Given the description of an element on the screen output the (x, y) to click on. 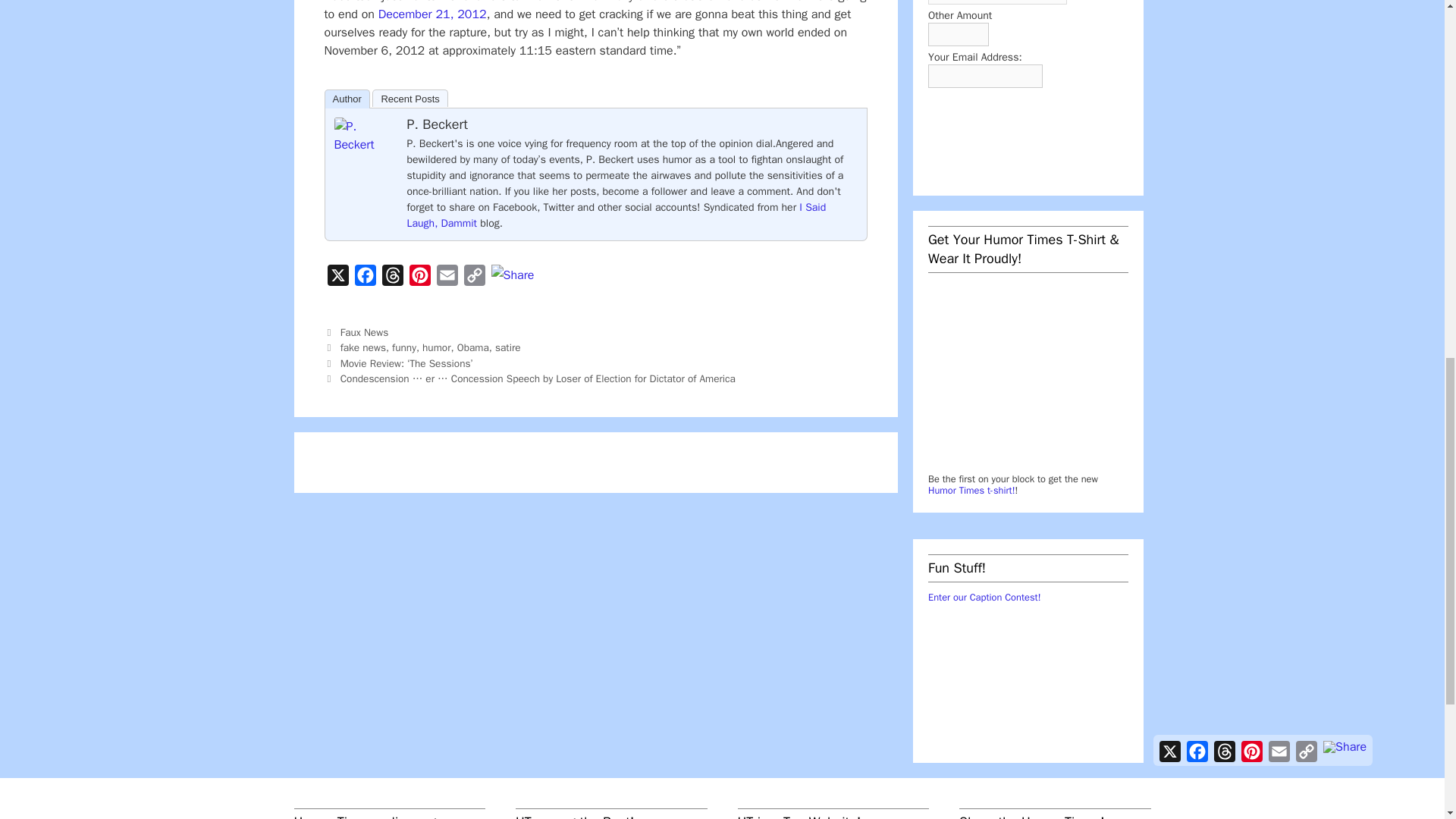
Threads (392, 278)
Pinterest (419, 278)
X (338, 278)
Copy Link (474, 278)
P. Beckert (363, 144)
Email (447, 278)
Facebook (365, 278)
